Given the description of an element on the screen output the (x, y) to click on. 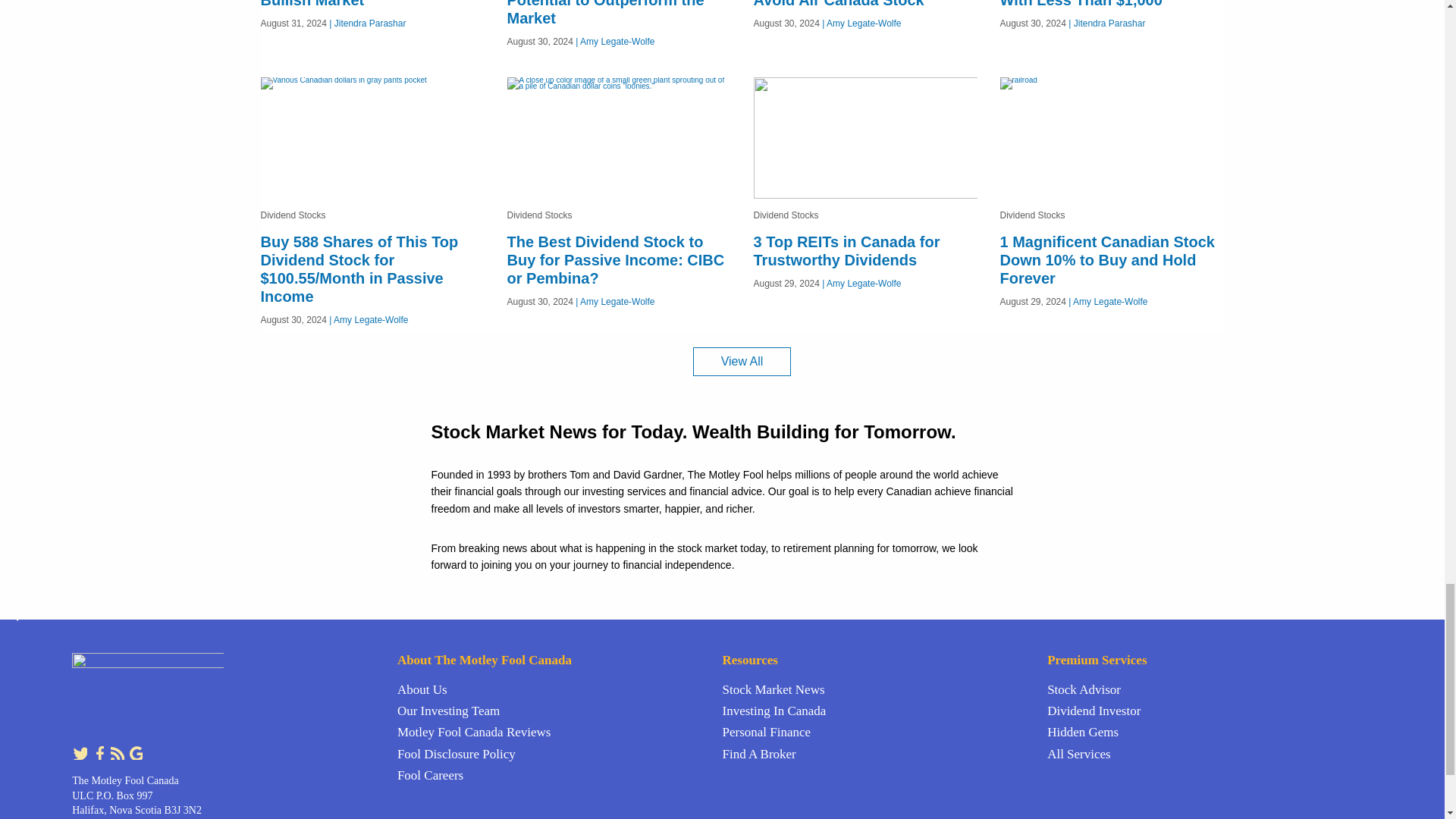
Subscribe to our feed (118, 751)
Follow us on Twitter (80, 751)
Like us on Facebook (99, 751)
Follow us on Google News (135, 751)
